Given the description of an element on the screen output the (x, y) to click on. 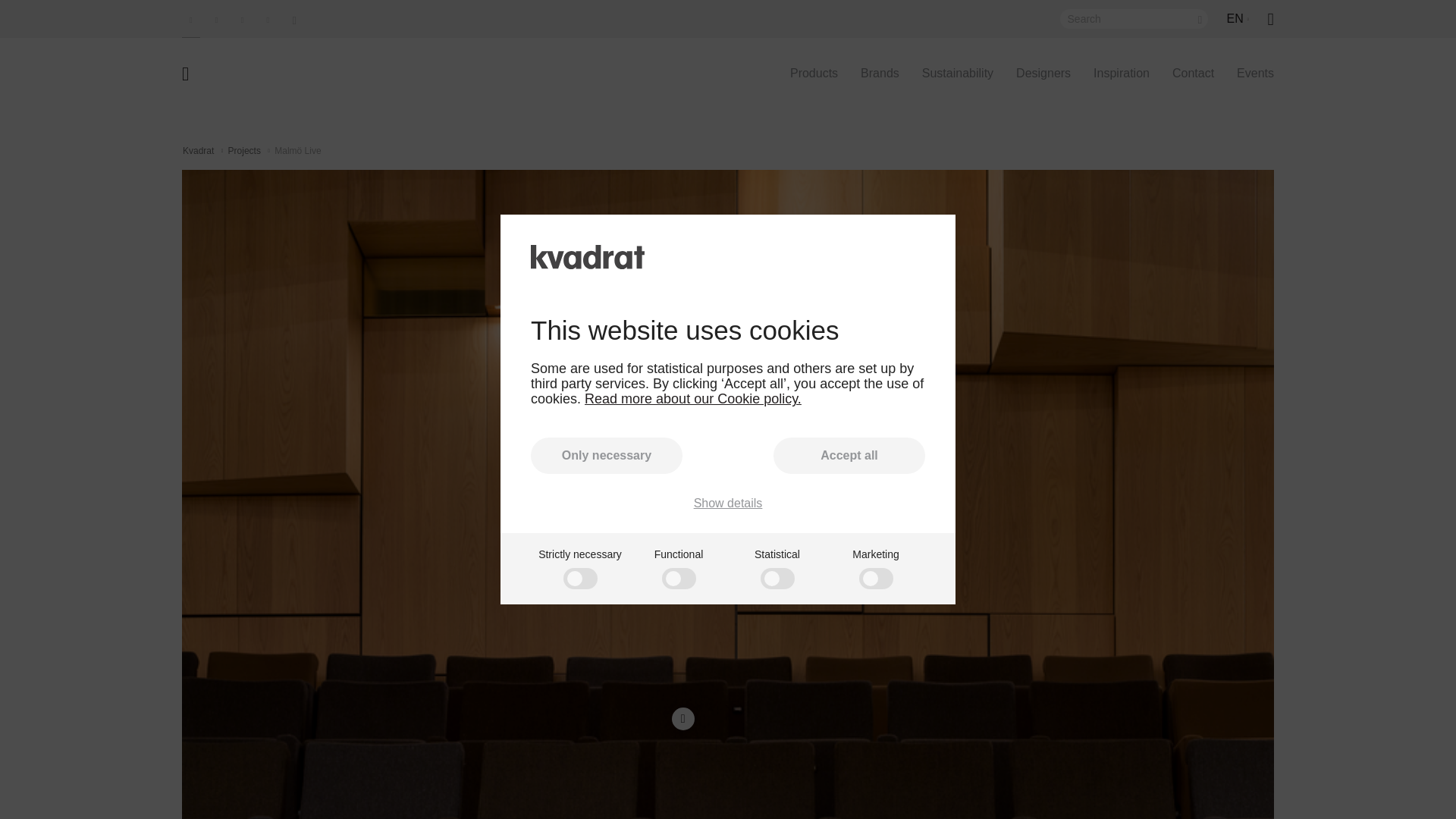
Show details (728, 503)
Only necessary (606, 455)
Accept all (848, 455)
Read more about our Cookie policy. (693, 398)
